Given the description of an element on the screen output the (x, y) to click on. 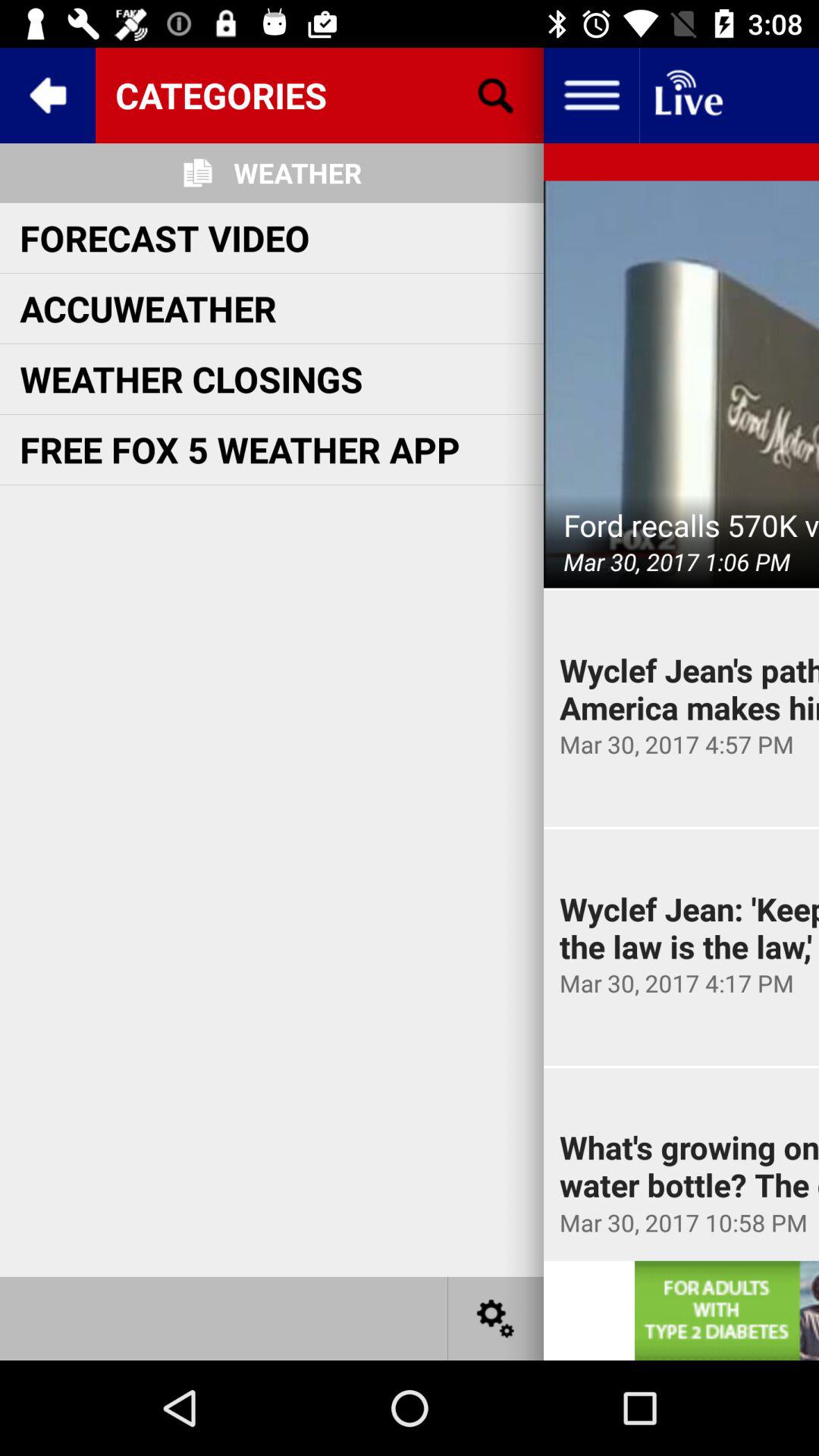
lived check the button (687, 95)
